Given the description of an element on the screen output the (x, y) to click on. 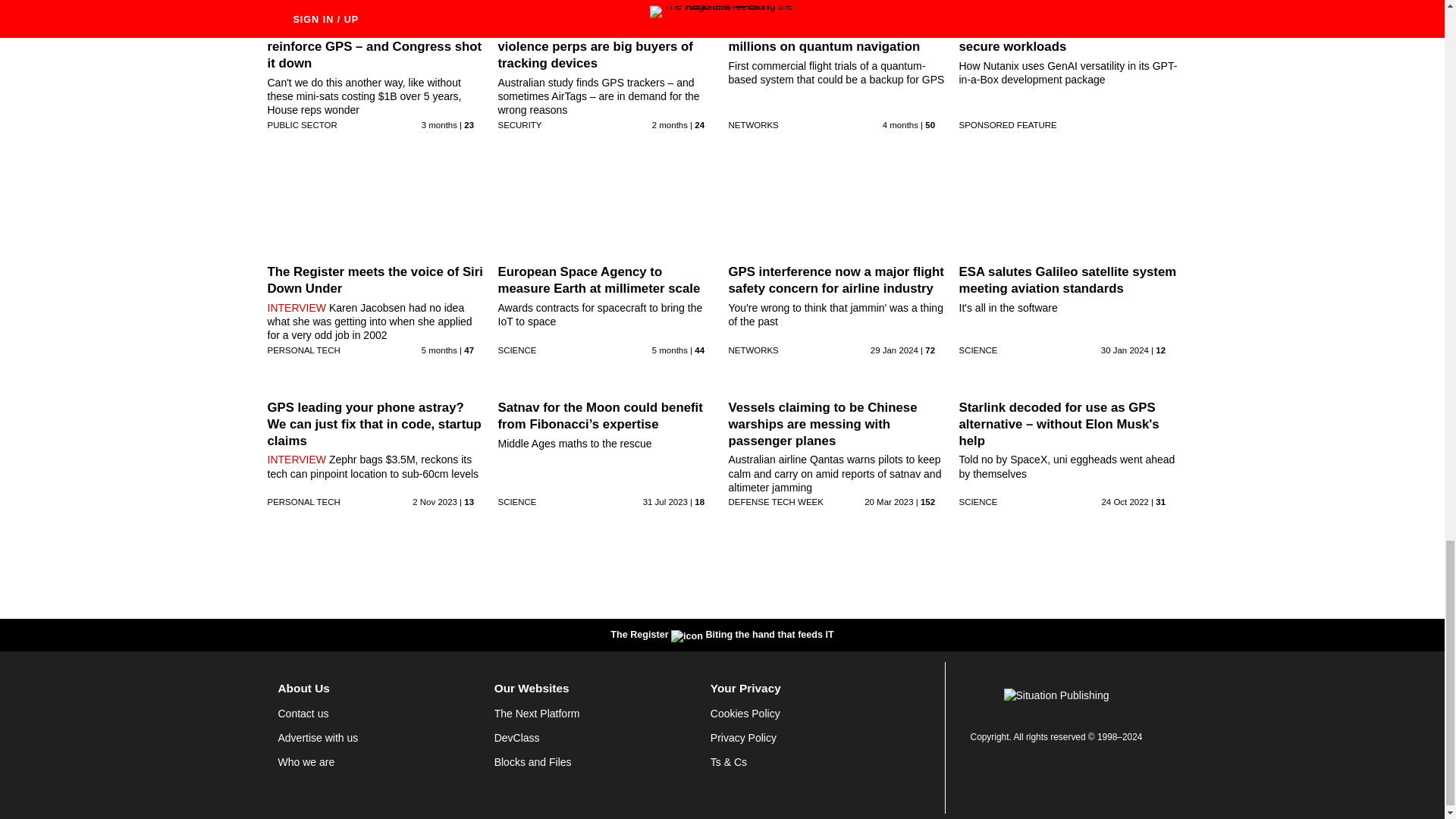
14 May 2024 10:15 (900, 124)
30 Mar 2024 22:0 (439, 349)
26 Jun 2024 3:45 (669, 124)
13 Jun 2024 22:42 (439, 124)
20 Mar 2024 7:30 (669, 349)
